Given the description of an element on the screen output the (x, y) to click on. 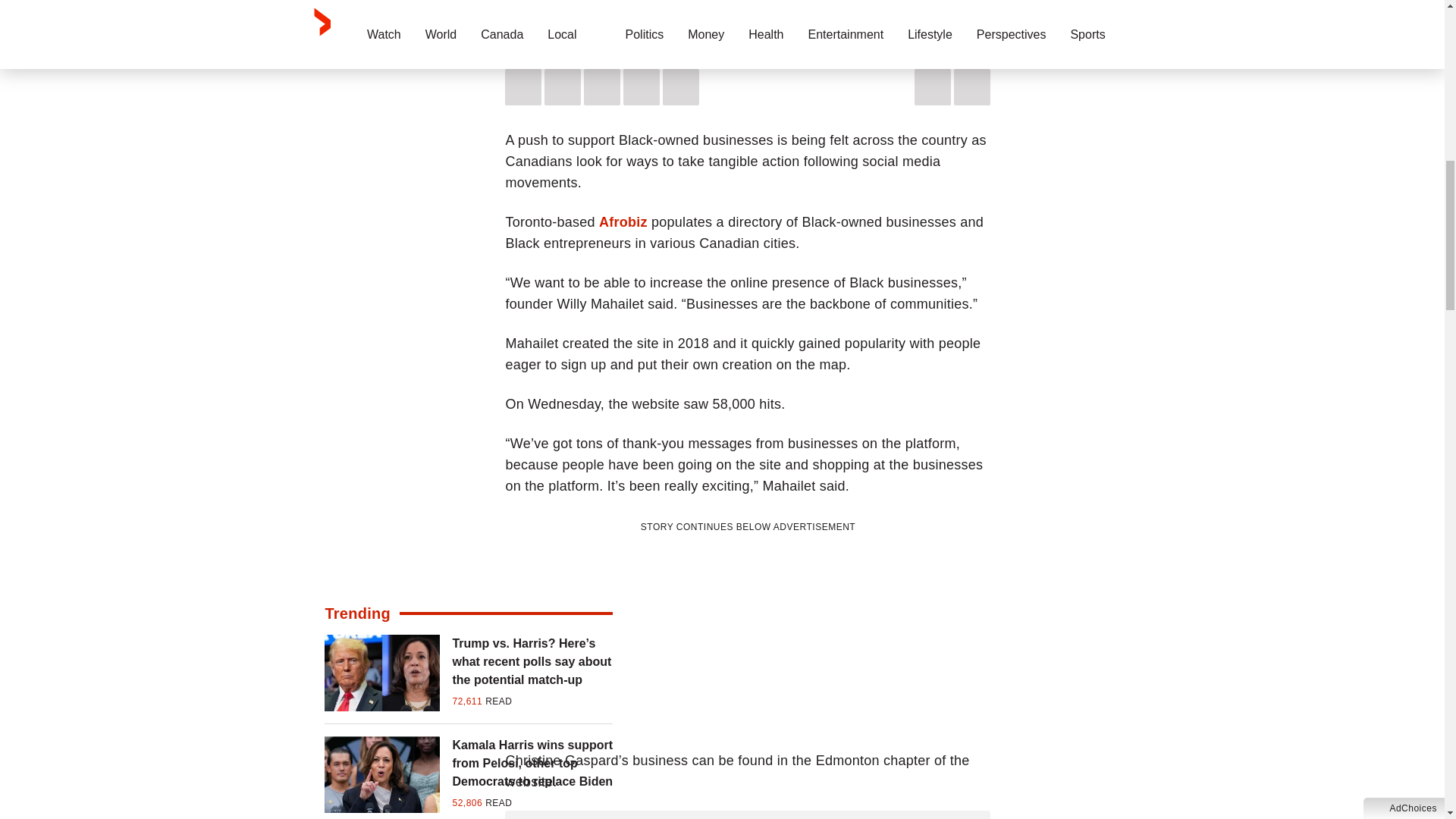
Sticky Video (747, 11)
3rd party ad content (747, 630)
